Given the description of an element on the screen output the (x, y) to click on. 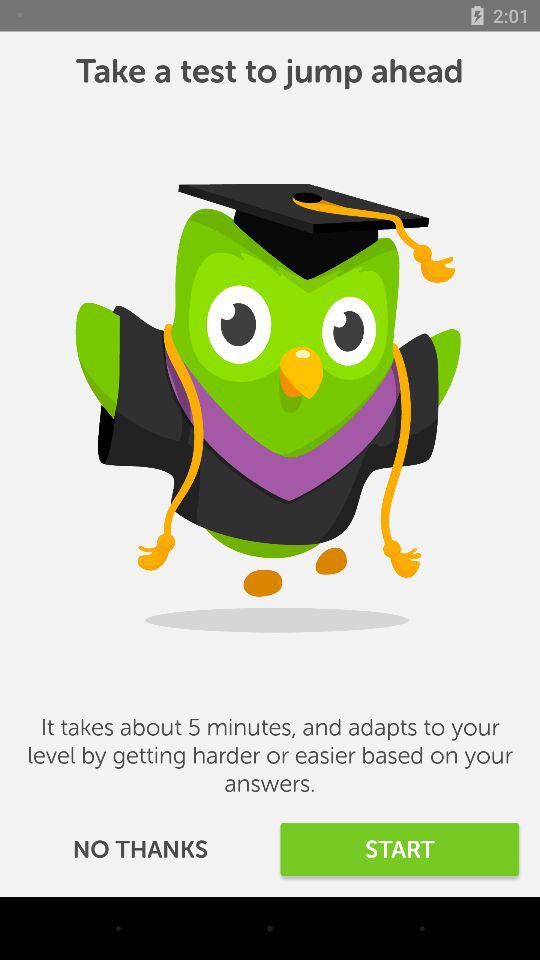
flip to no thanks (140, 849)
